Given the description of an element on the screen output the (x, y) to click on. 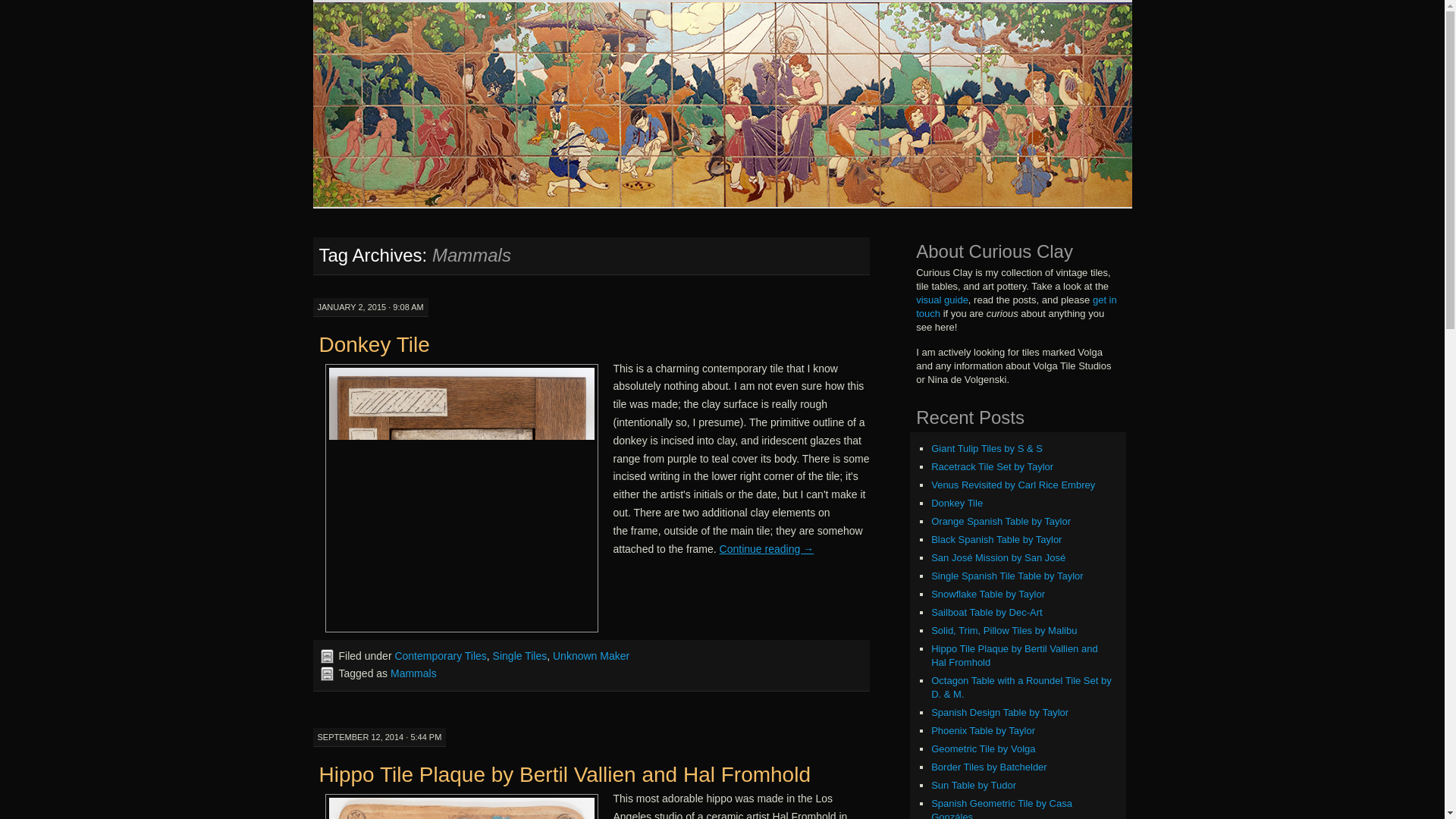
Single Tiles (520, 655)
Curious Clay (406, 27)
Unknown Maker (590, 655)
Curious Clay (406, 27)
Mammals (413, 673)
Donkey Tile (373, 344)
Contemporary Tiles (440, 655)
Hippo Tile Plaque by Bertil Vallien and Hal Fromhold (563, 774)
